Given the description of an element on the screen output the (x, y) to click on. 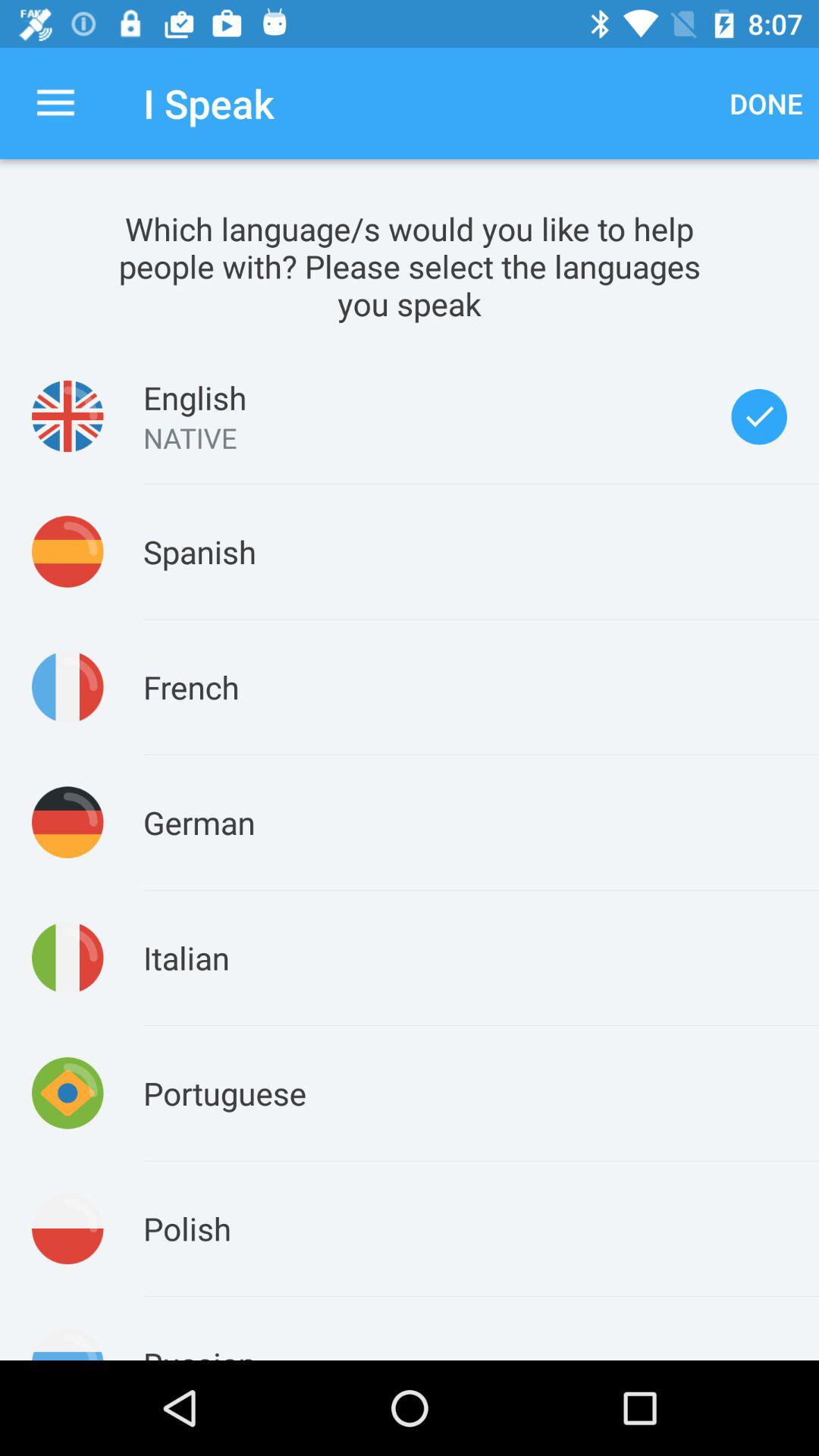
click done (766, 103)
